Given the description of an element on the screen output the (x, y) to click on. 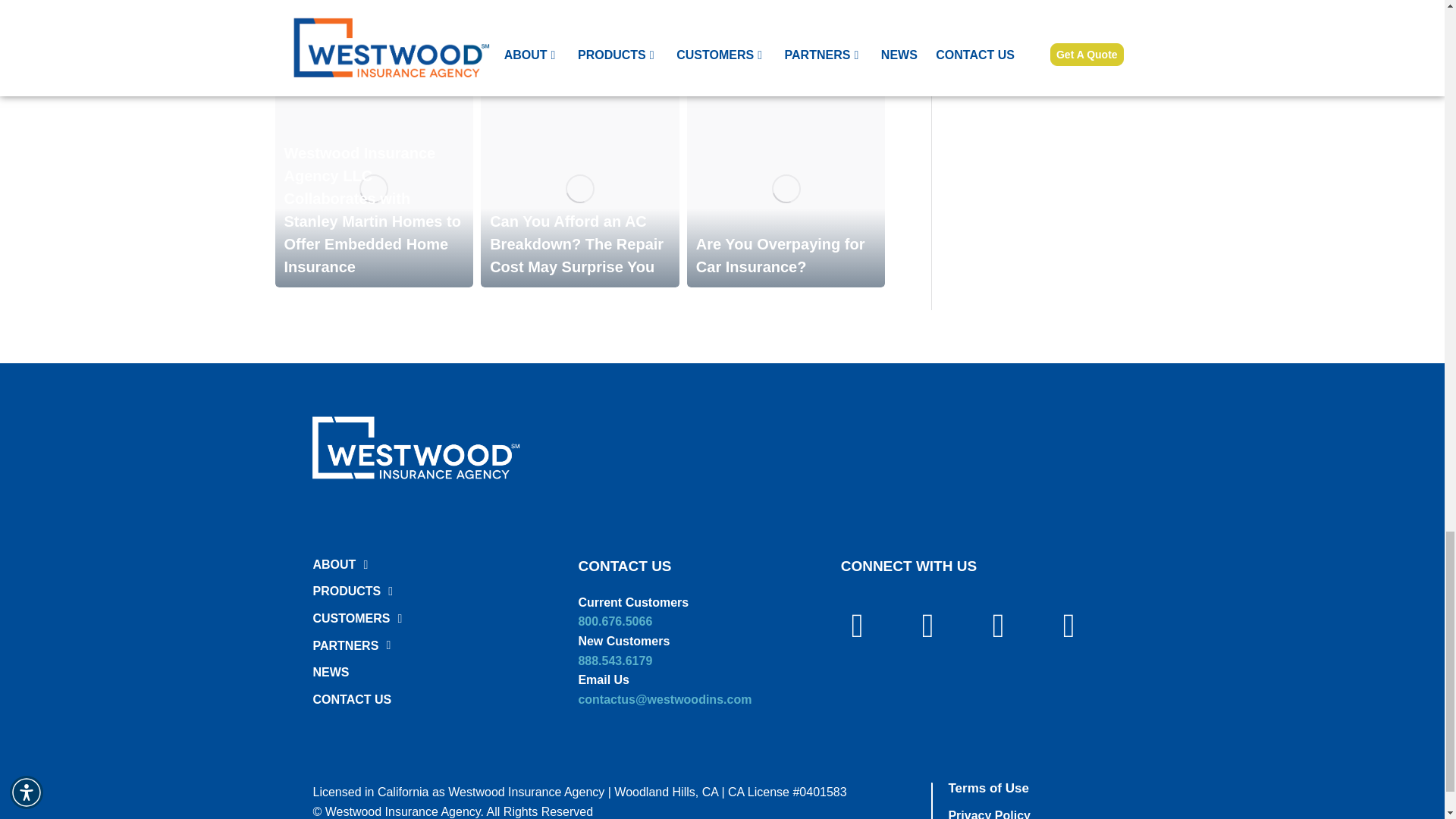
Are You Overpaying for Car Insurance? (779, 255)
